Given the description of an element on the screen output the (x, y) to click on. 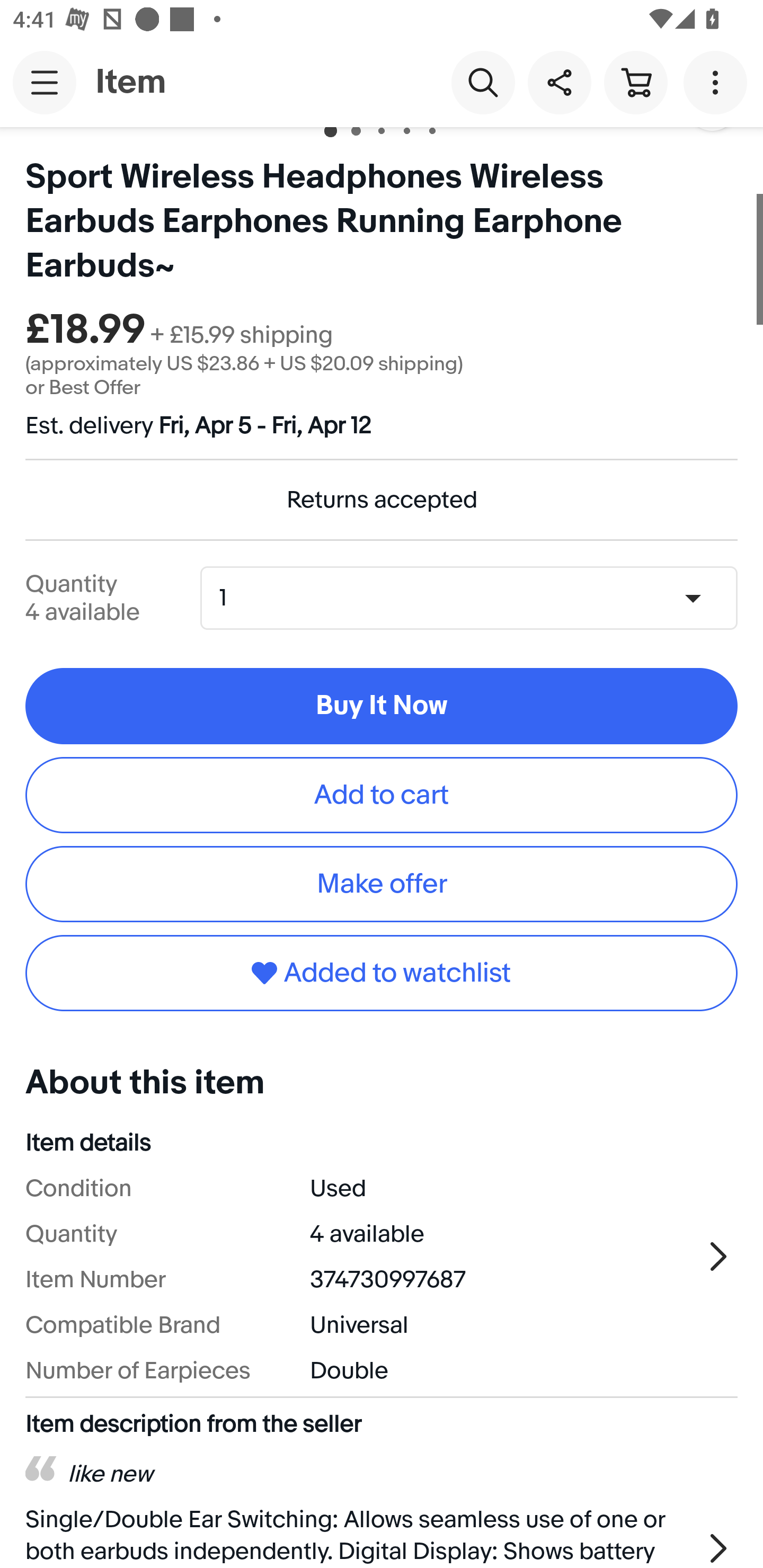
Main navigation, open (44, 82)
Search (482, 81)
Share this item (559, 81)
Cart button shopping cart (635, 81)
More options (718, 81)
Quantity,1,4 available 1 (474, 597)
Buy It Now (381, 705)
Add to cart (381, 794)
Make offer (381, 883)
Added to watchlist (381, 972)
